Given the description of an element on the screen output the (x, y) to click on. 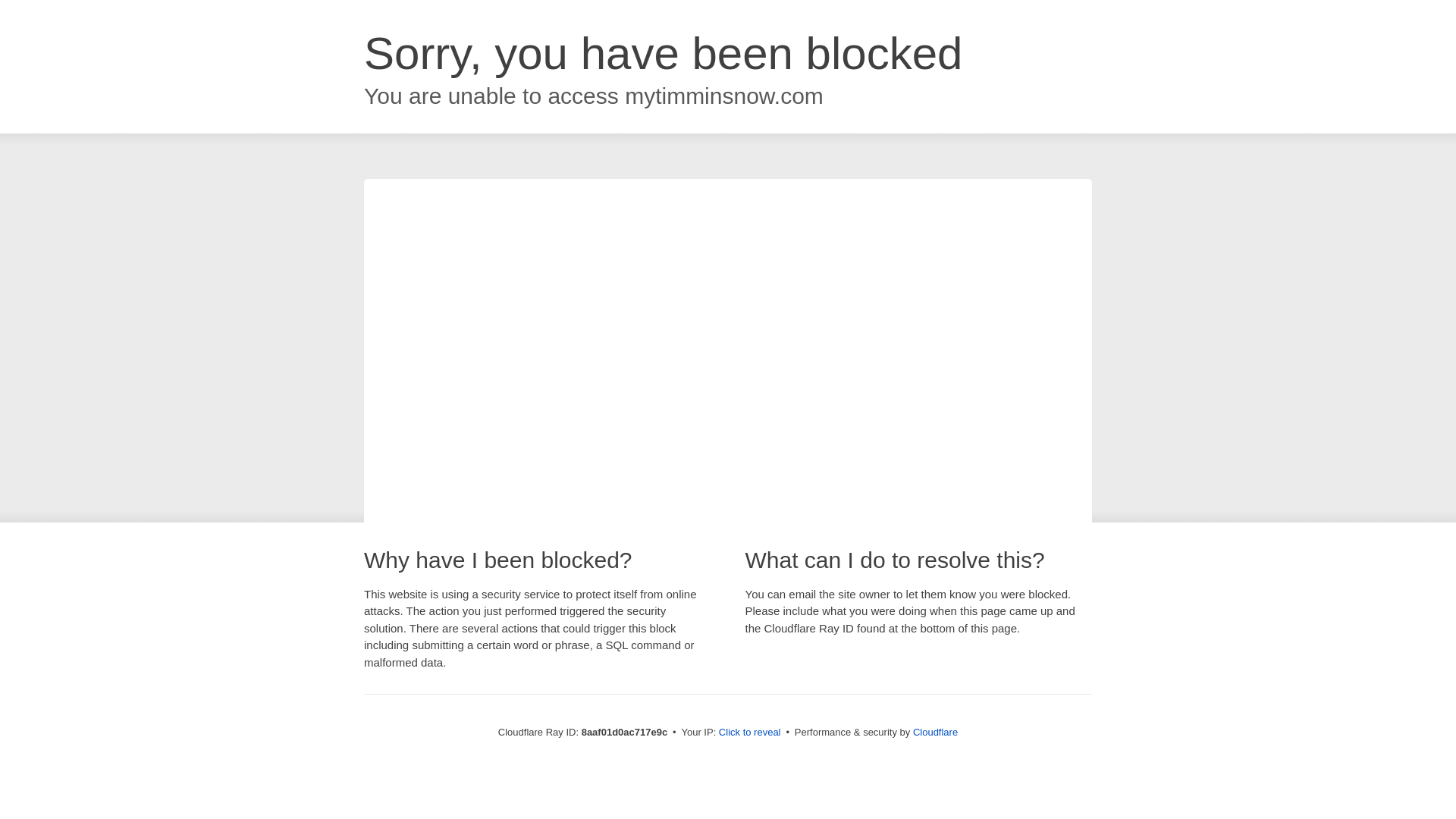
Click to reveal (749, 732)
Cloudflare (935, 731)
